Given the description of an element on the screen output the (x, y) to click on. 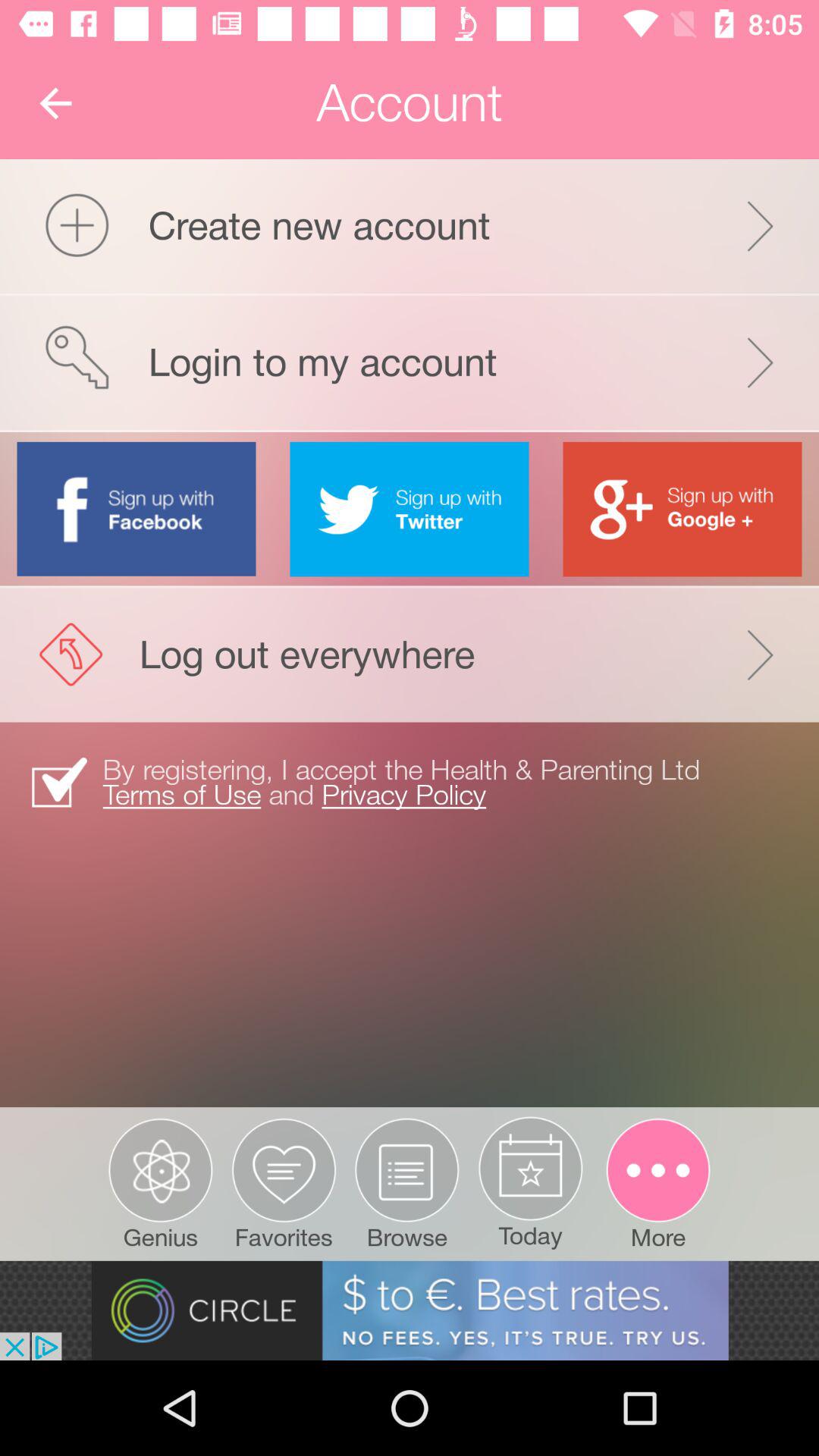
select it (409, 508)
